Given the description of an element on the screen output the (x, y) to click on. 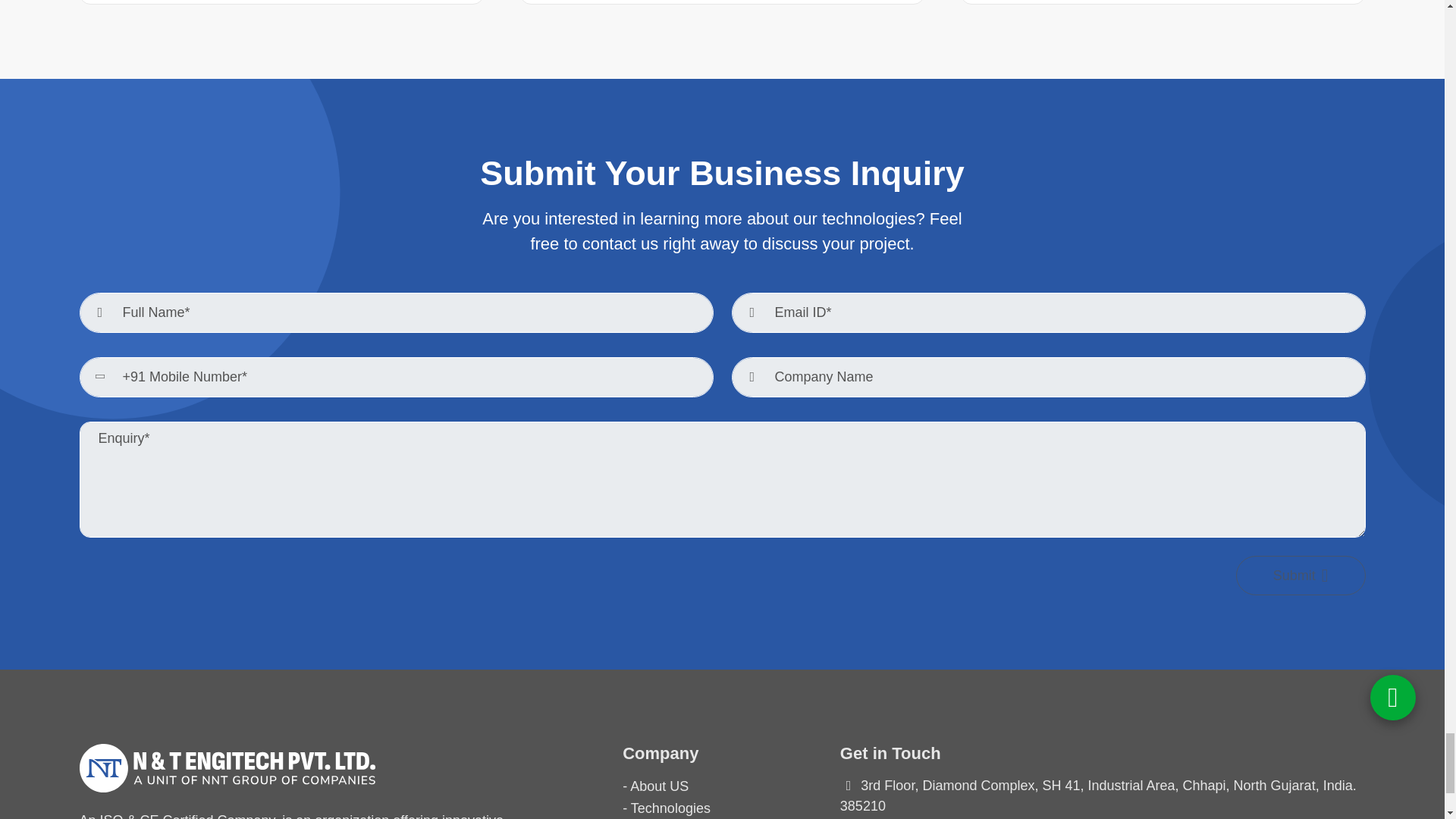
- Technologies (666, 808)
- About US (655, 786)
Submit (1300, 575)
